Given the description of an element on the screen output the (x, y) to click on. 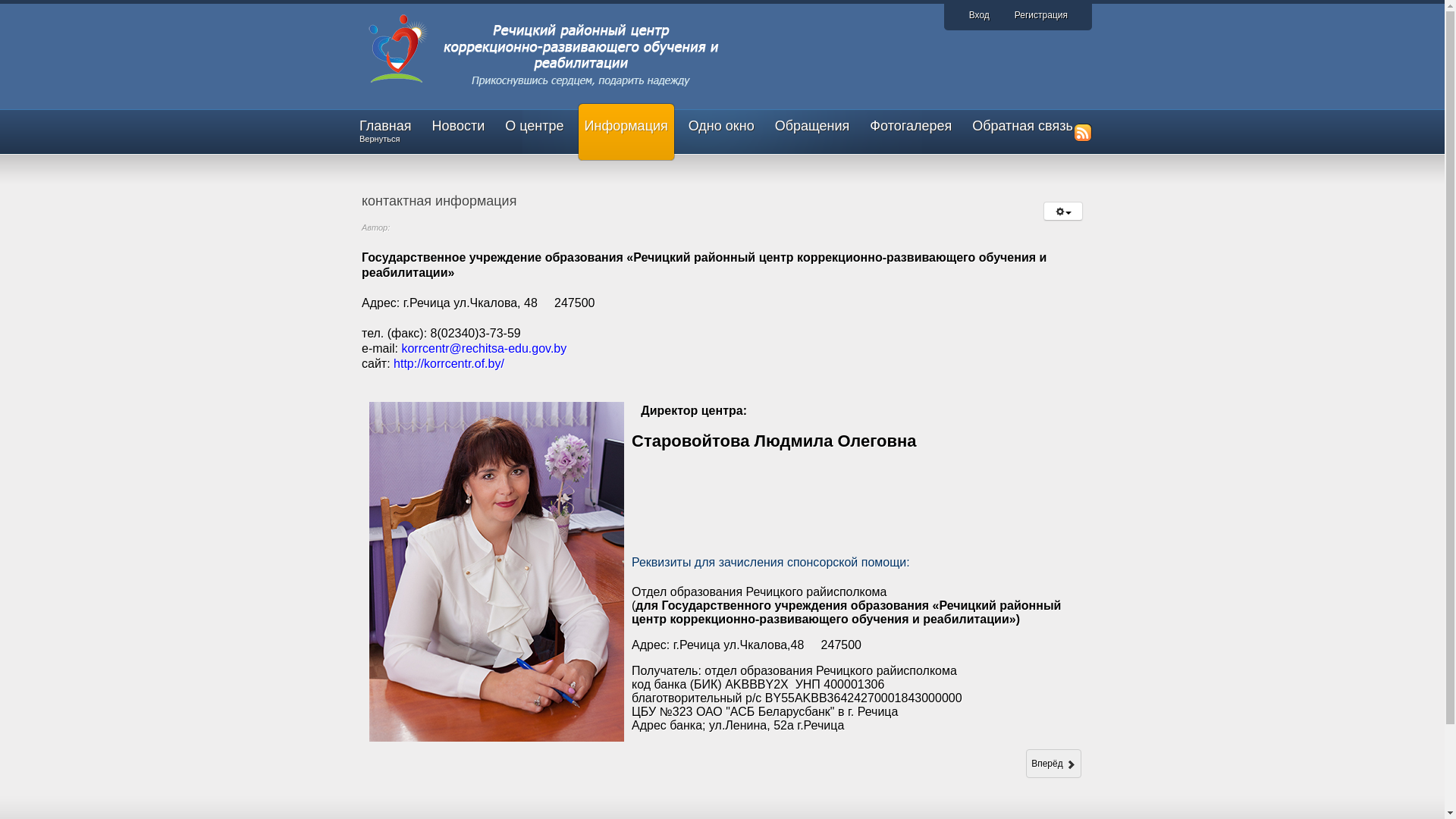
korrcentr@rechitsa-edu.gov.by Element type: text (483, 348)
http://korrcentr.of.by/ Element type: text (447, 363)
